Given the description of an element on the screen output the (x, y) to click on. 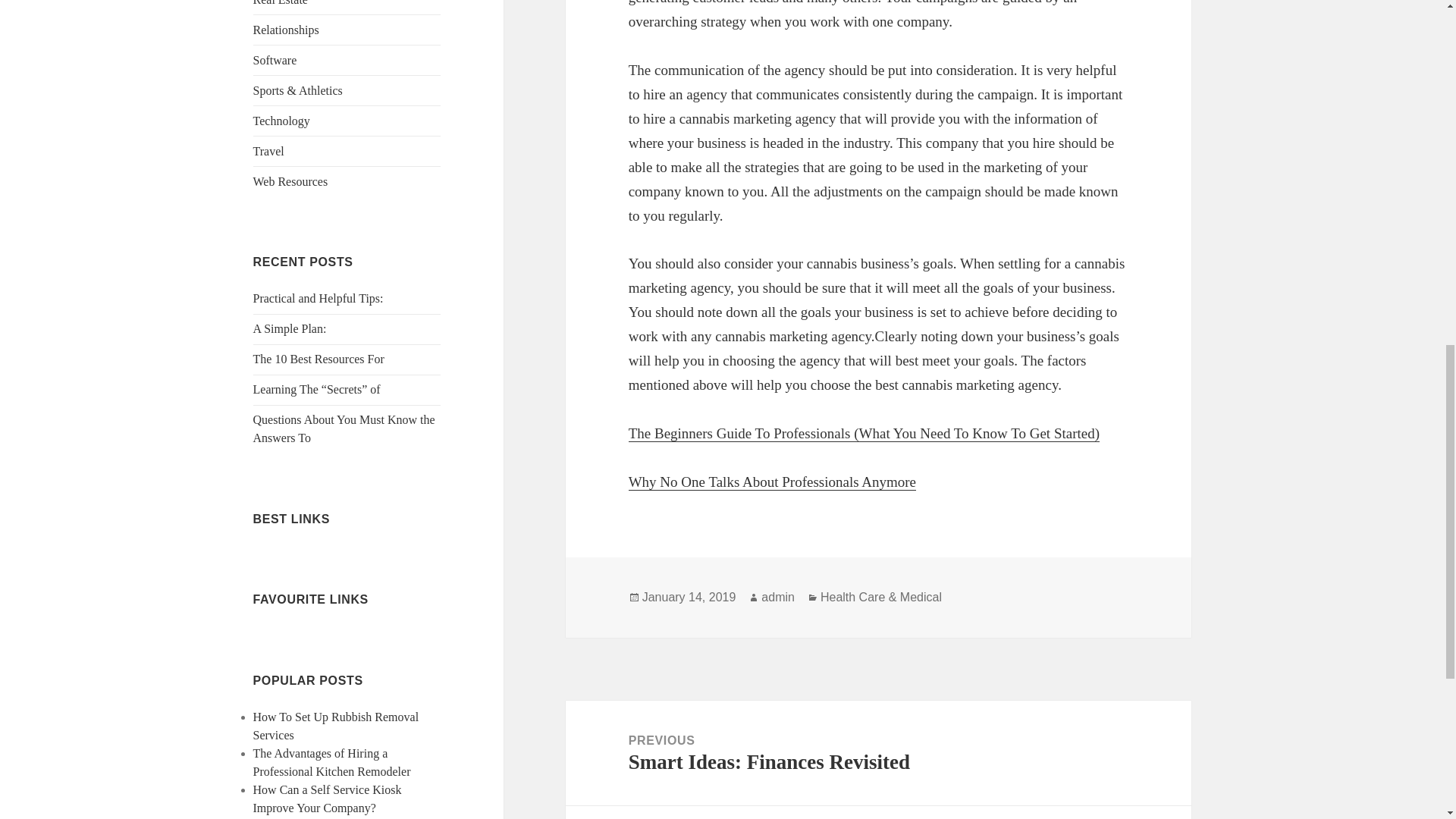
The 10 Best Resources For (318, 358)
A Simple Plan: (289, 328)
How To Set Up Rubbish Removal Services (336, 726)
How Can a Self Service Kiosk Improve Your Company? (327, 798)
How Can a Self Service Kiosk Improve Your Company? (327, 798)
Relationships (285, 29)
The Advantages of Hiring a Professional Kitchen Remodeler (331, 762)
How To Set Up Rubbish Removal Services (336, 726)
Web Resources (291, 181)
Travel (268, 151)
Real Estate (280, 2)
Software (275, 60)
Technology (281, 120)
Practical and Helpful Tips: (318, 297)
Questions About You Must Know the Answers To (344, 428)
